Given the description of an element on the screen output the (x, y) to click on. 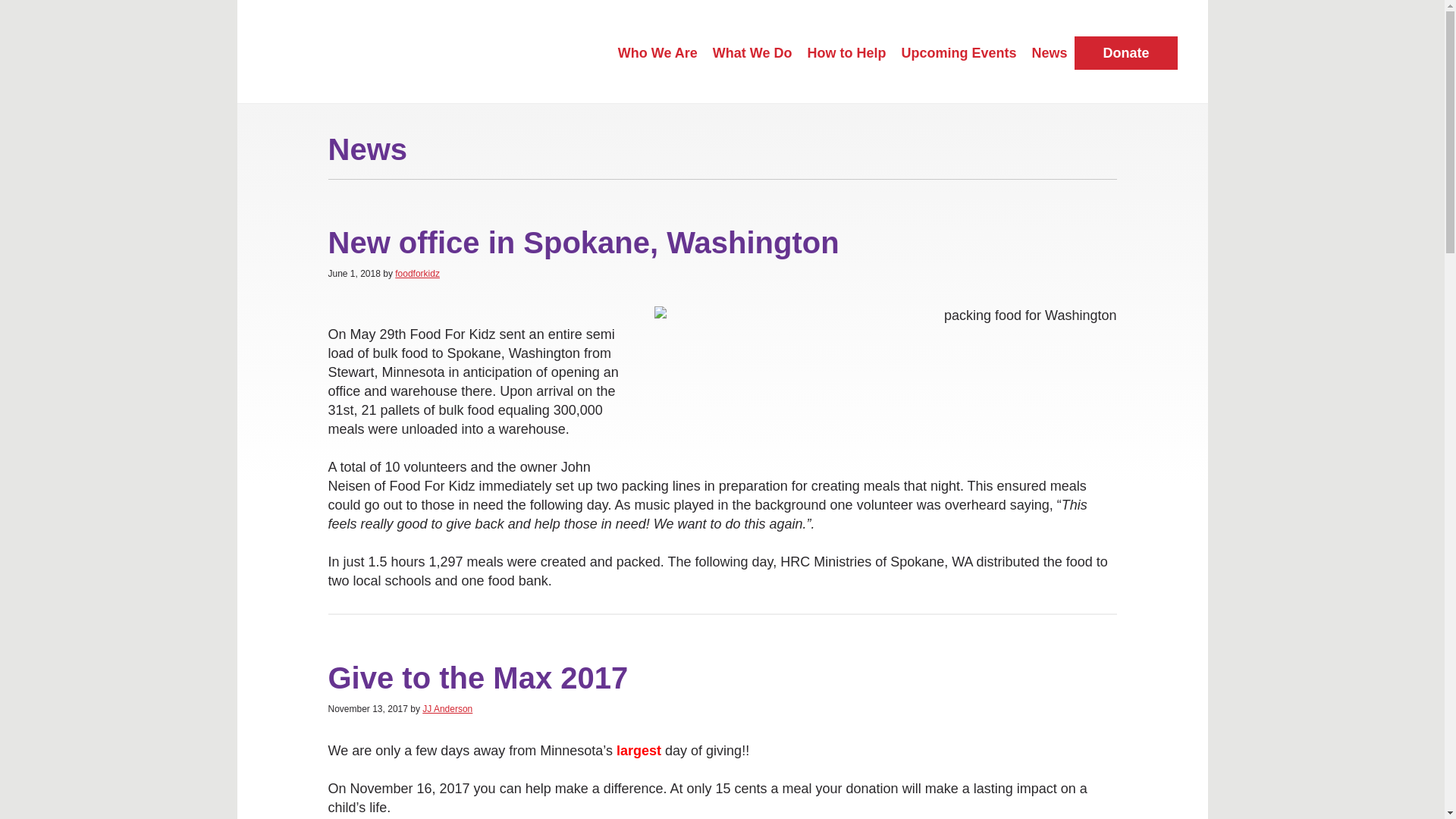
New office in Spokane, Washington (582, 242)
Upcoming Events (958, 52)
What We Do (751, 52)
How to Help (846, 52)
JJ Anderson (446, 708)
Give to the Max 2017 (477, 677)
Donate (1125, 52)
Who We Are (657, 52)
FOOD FOR KIDZ (382, 52)
